Given the description of an element on the screen output the (x, y) to click on. 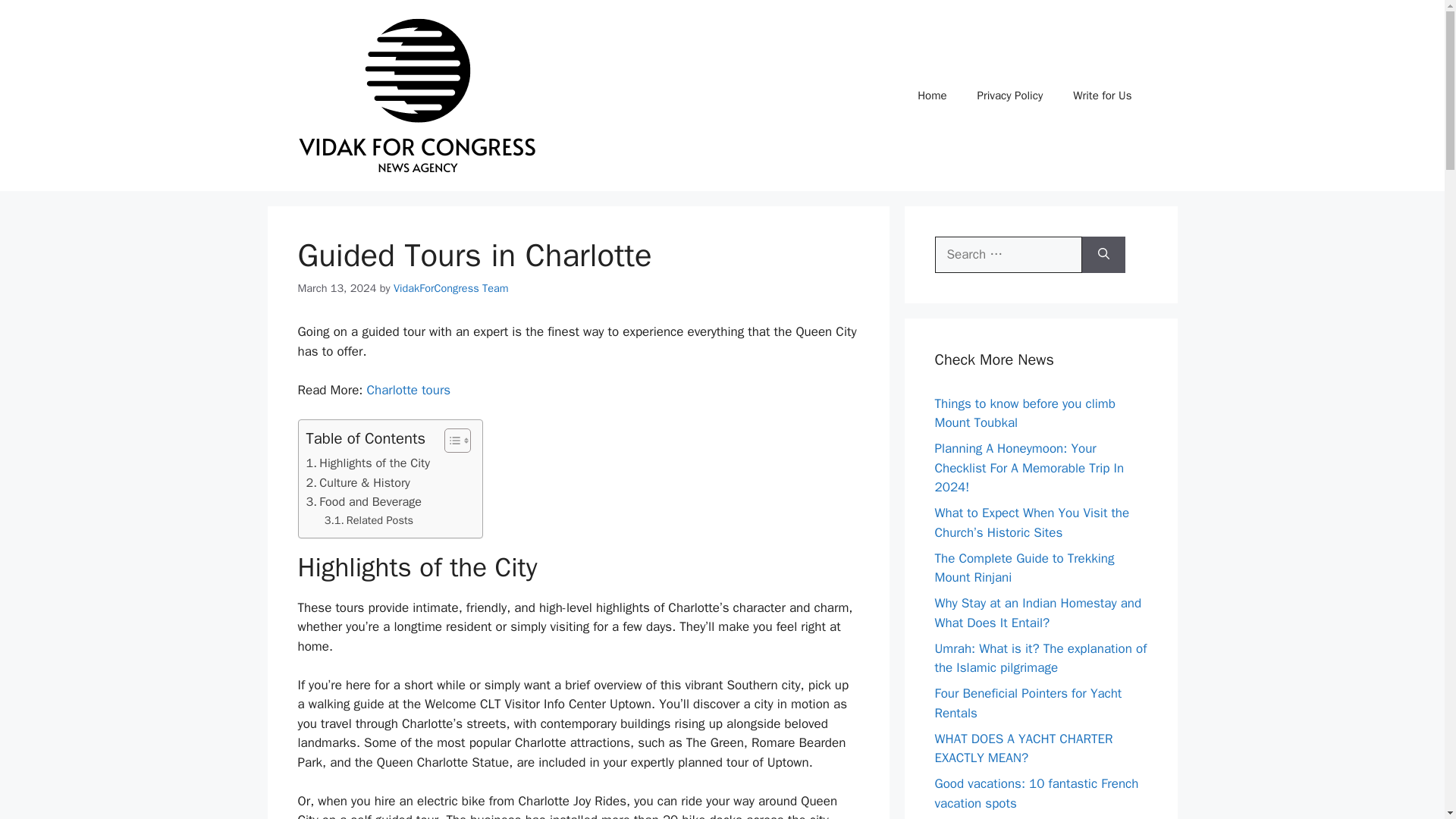
Privacy Policy (1010, 94)
View all posts by VidakForCongress Team (450, 287)
Related Posts (368, 520)
Good vacations: 10 fantastic French vacation spots (1036, 793)
Food and Beverage (363, 501)
Search for: (1007, 254)
Food and Beverage (363, 501)
Highlights of the City (367, 463)
Why Stay at an Indian Homestay and What Does It Entail? (1037, 612)
Umrah: What is it? The explanation of the Islamic pilgrimage (1040, 657)
Four Beneficial Pointers for Yacht Rentals (1027, 703)
Charlotte tours (408, 390)
Highlights of the City (367, 463)
Home (931, 94)
Write for Us (1102, 94)
